Given the description of an element on the screen output the (x, y) to click on. 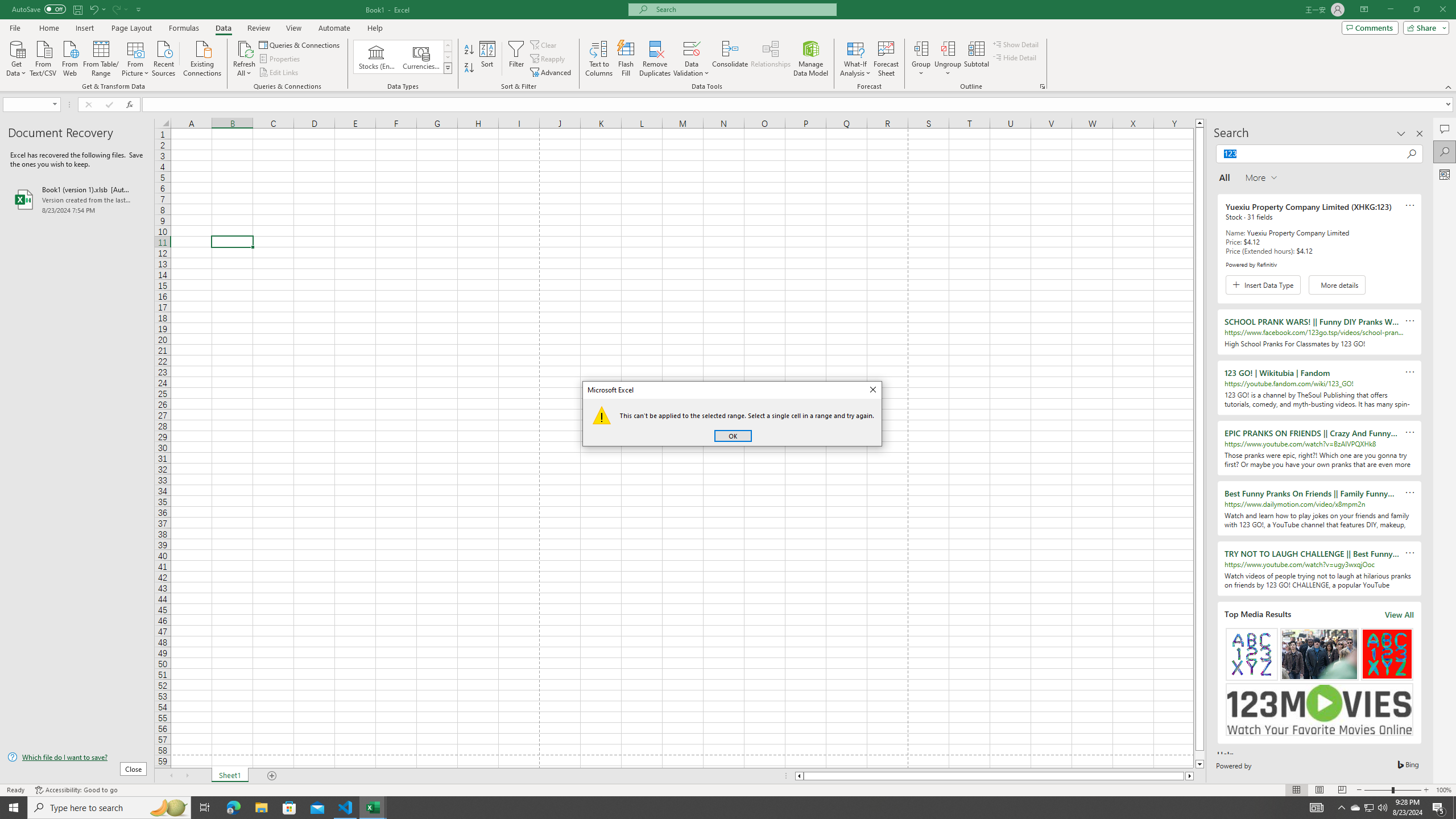
Undo (92, 9)
Quick Access Toolbar (77, 9)
AutomationID: ConvertToLinkedEntity (403, 56)
Scroll Left (171, 775)
Ungroup... (947, 58)
Share (1423, 27)
AutomationID: 4105 (1316, 807)
